Given the description of an element on the screen output the (x, y) to click on. 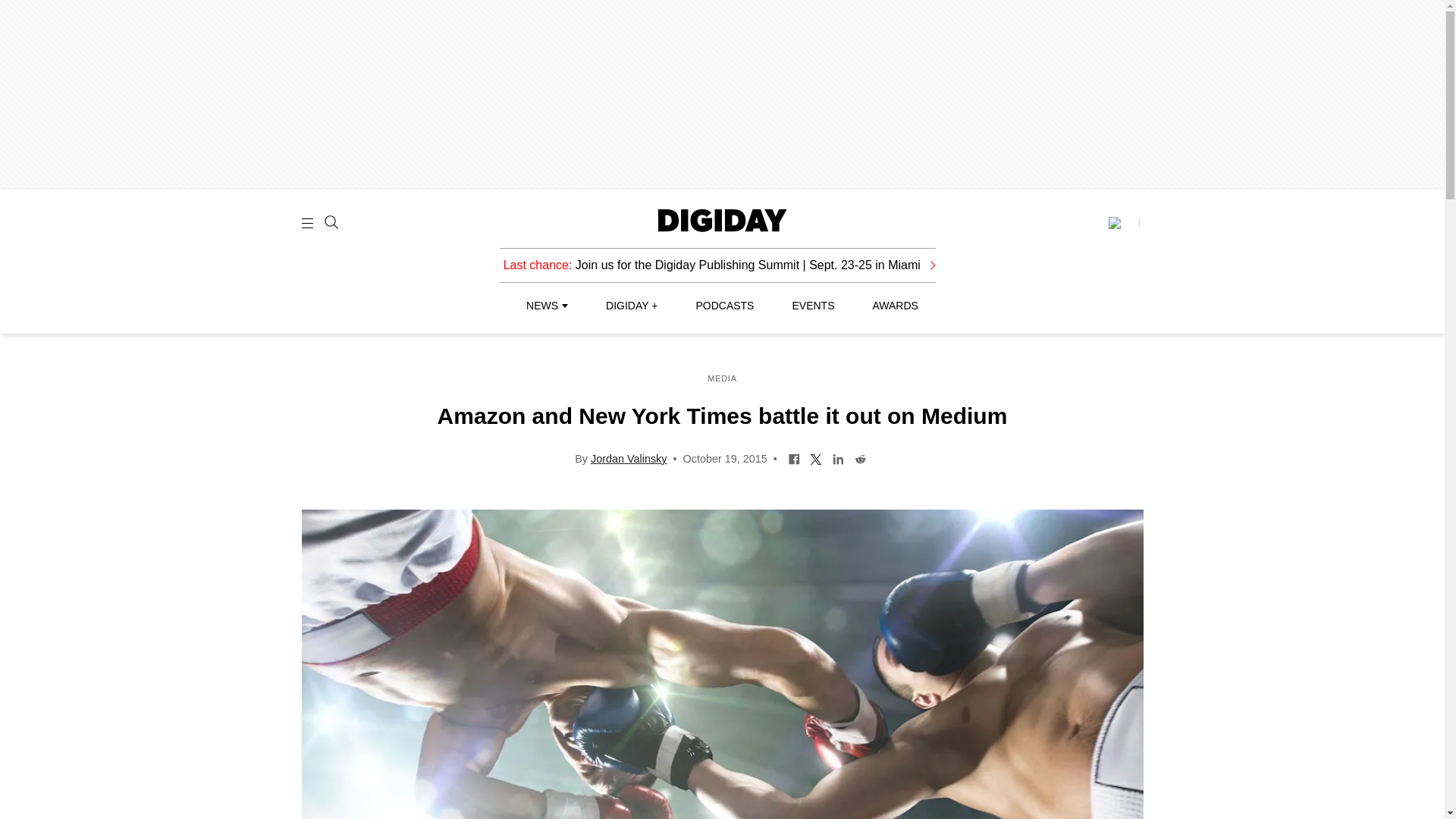
AWARDS (894, 305)
NEWS (546, 305)
PODCASTS (725, 305)
EVENTS (813, 305)
Share on Twitter (815, 458)
Share on Reddit (859, 458)
Subscribe (1123, 223)
Share on Facebook (793, 458)
Share on LinkedIn (837, 458)
